Given the description of an element on the screen output the (x, y) to click on. 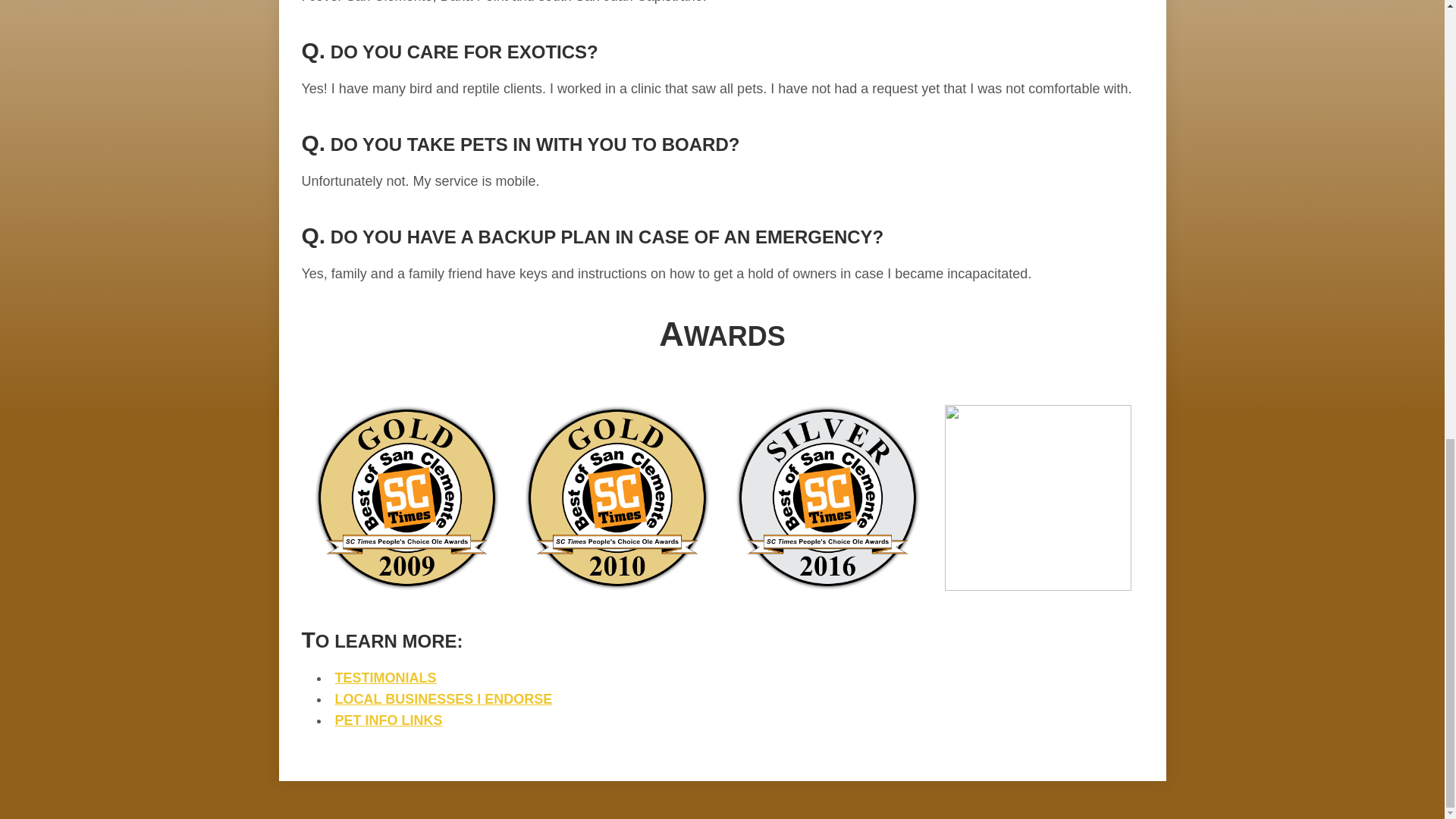
TESTIMONIALS (385, 677)
PET INFO LINKS (388, 720)
LOCAL BUSINESSES I ENDORSE (443, 698)
